Given the description of an element on the screen output the (x, y) to click on. 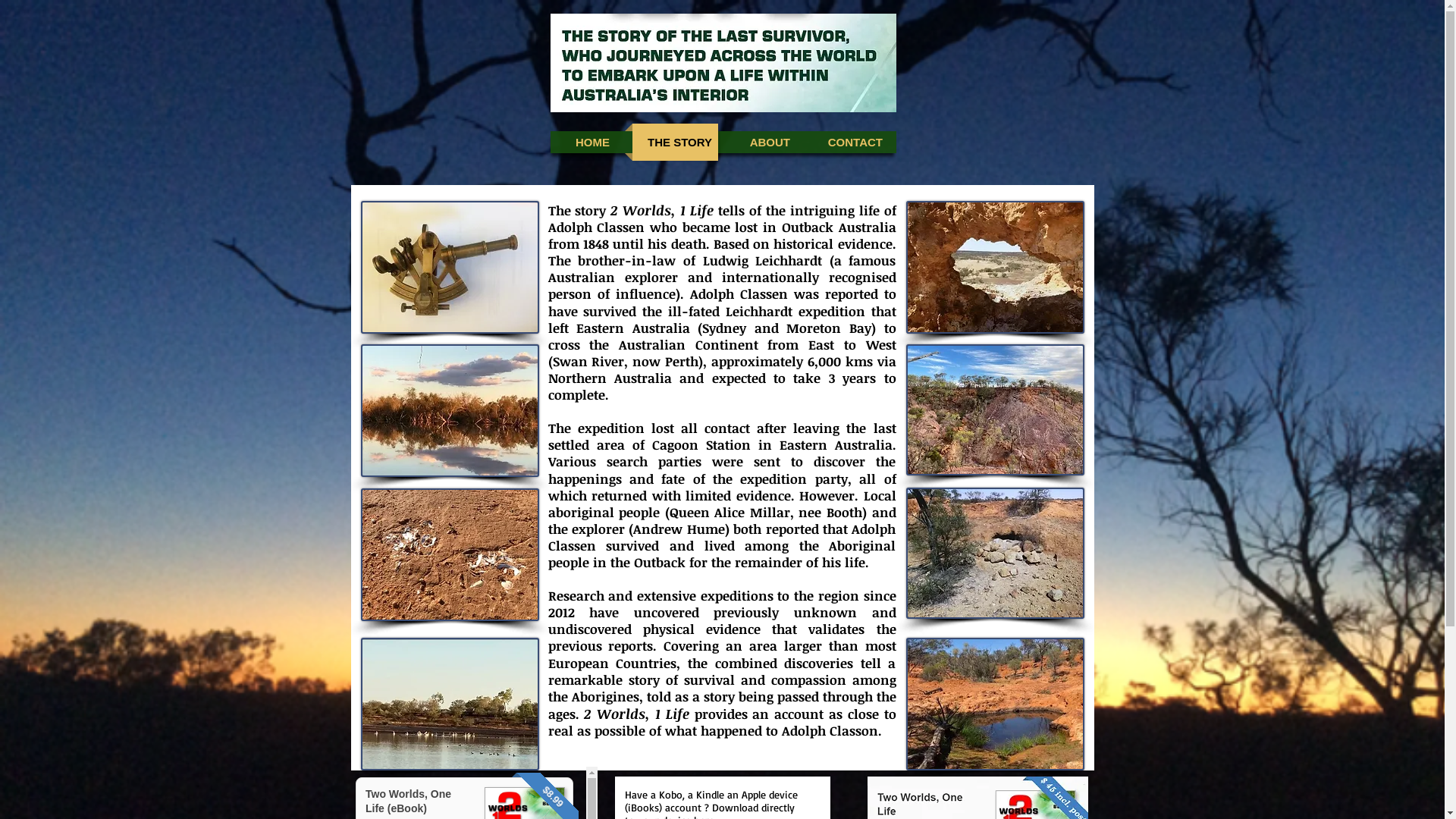
THE STORY Element type: text (674, 141)
HOME Element type: text (587, 141)
ABOUT Element type: text (764, 141)
CONTACT Element type: text (850, 141)
